Given the description of an element on the screen output the (x, y) to click on. 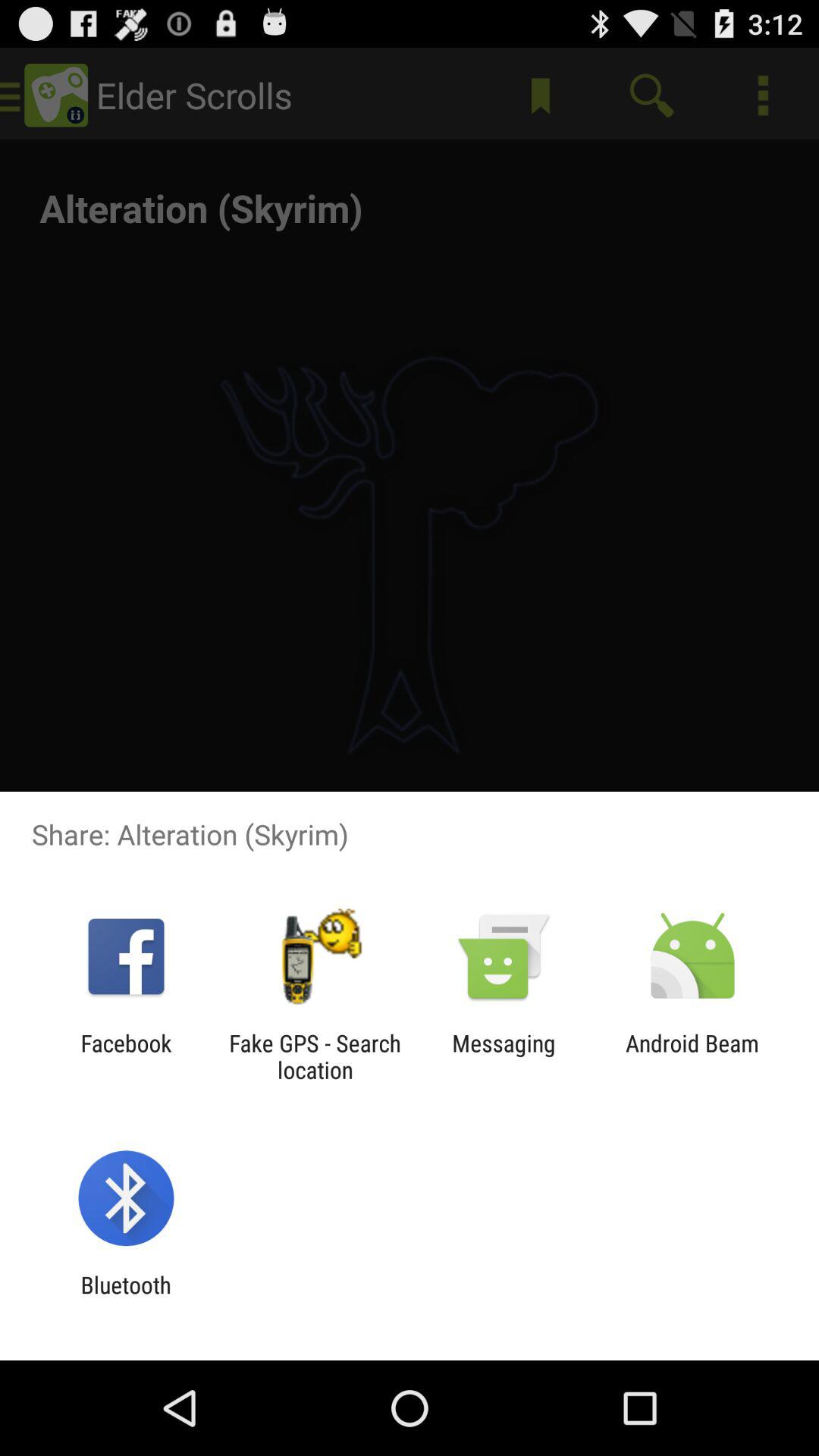
open the app to the right of the facebook item (314, 1056)
